Given the description of an element on the screen output the (x, y) to click on. 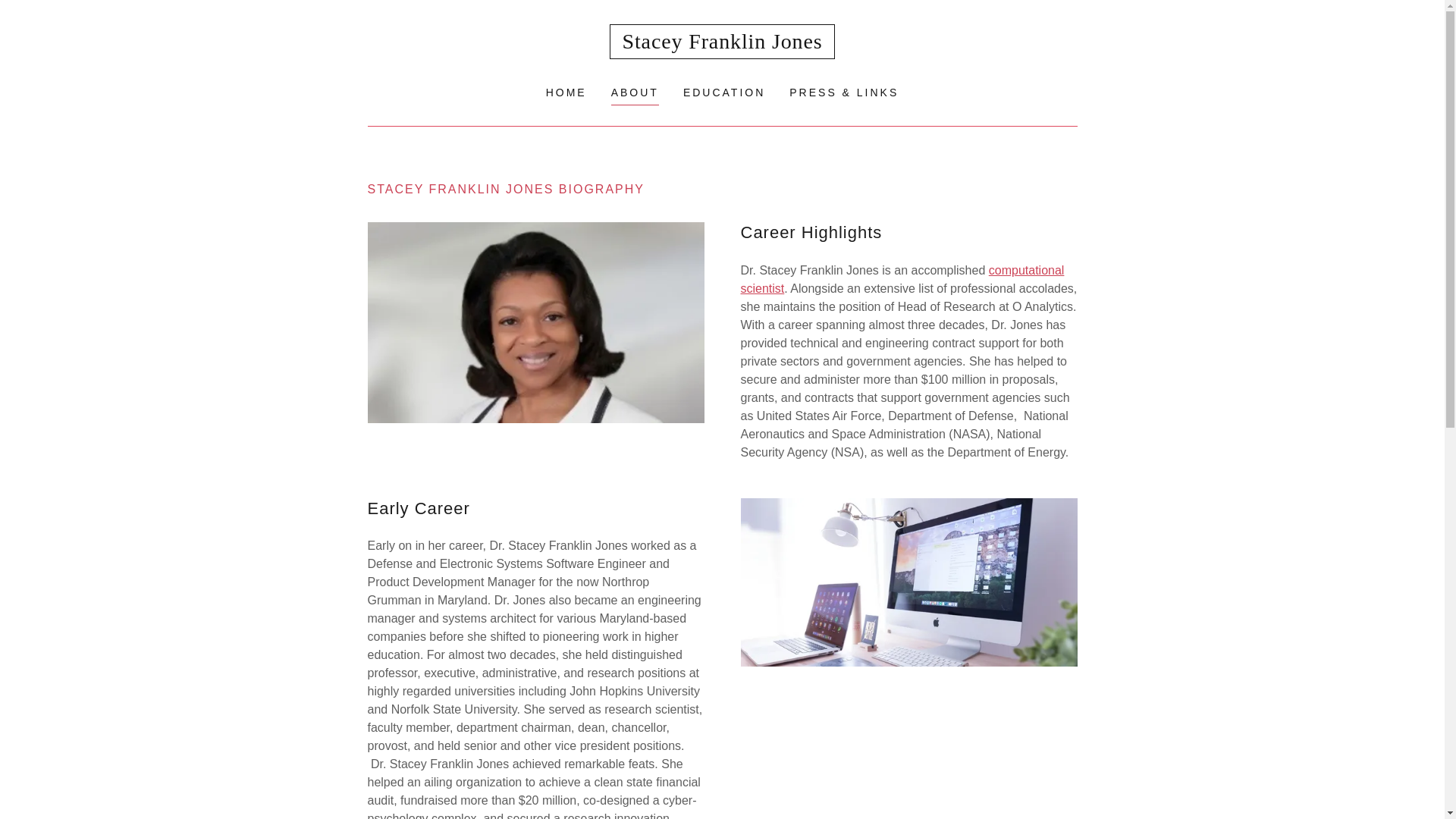
Stacey Franklin Jones (722, 41)
Stacey Franklin Jones (722, 41)
computational scientist (901, 278)
HOME (566, 92)
EDUCATION (724, 92)
ABOUT (635, 94)
